Given the description of an element on the screen output the (x, y) to click on. 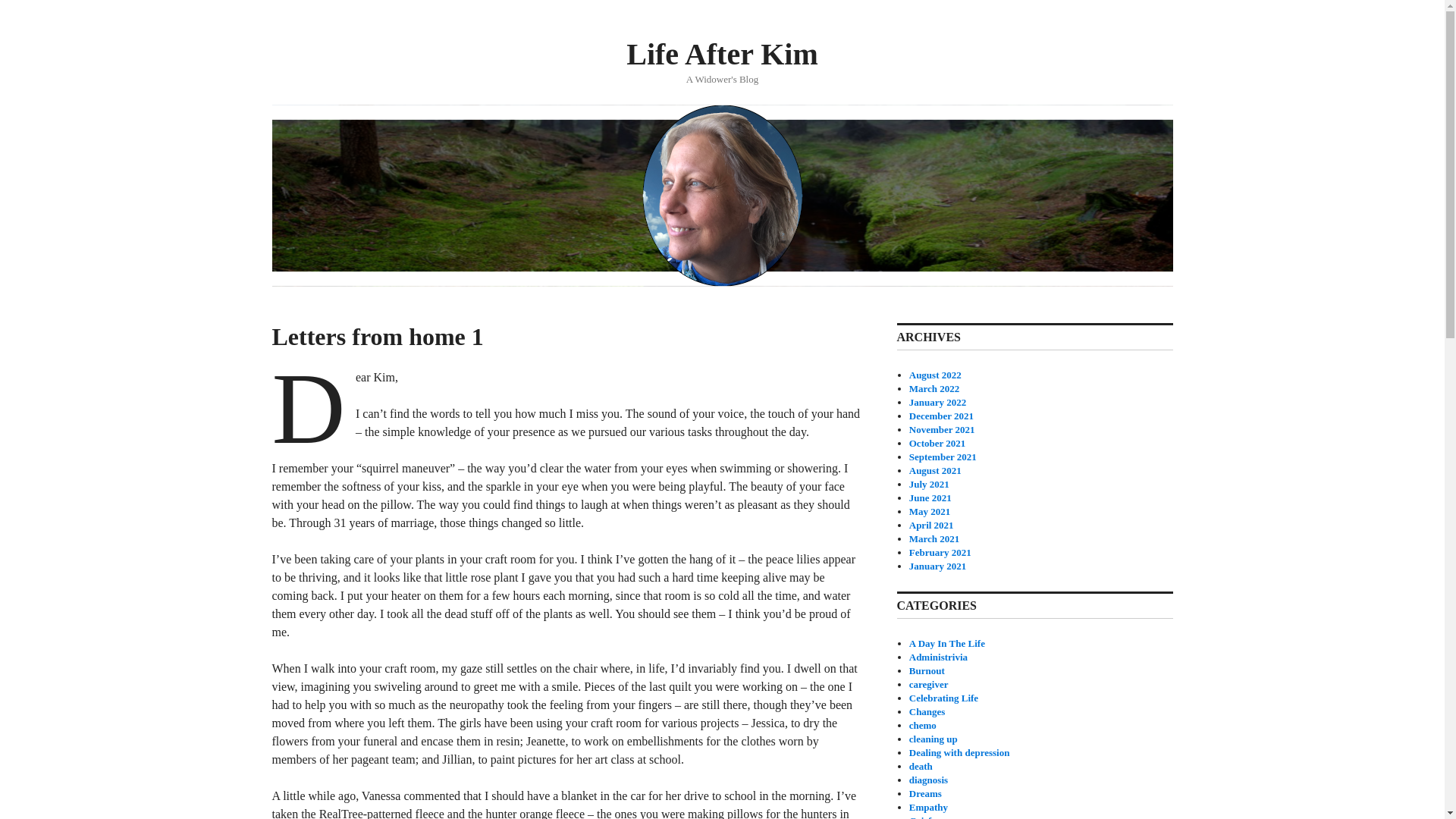
November 2021 (941, 429)
Changes (926, 711)
March 2022 (933, 388)
December 2021 (941, 415)
January 2021 (937, 565)
Burnout (926, 670)
October 2021 (937, 442)
September 2021 (942, 456)
caregiver (928, 684)
January 2022 (937, 401)
August 2022 (934, 374)
August 2021 (934, 470)
June 2021 (930, 497)
April 2021 (930, 524)
March 2021 (933, 538)
